Given the description of an element on the screen output the (x, y) to click on. 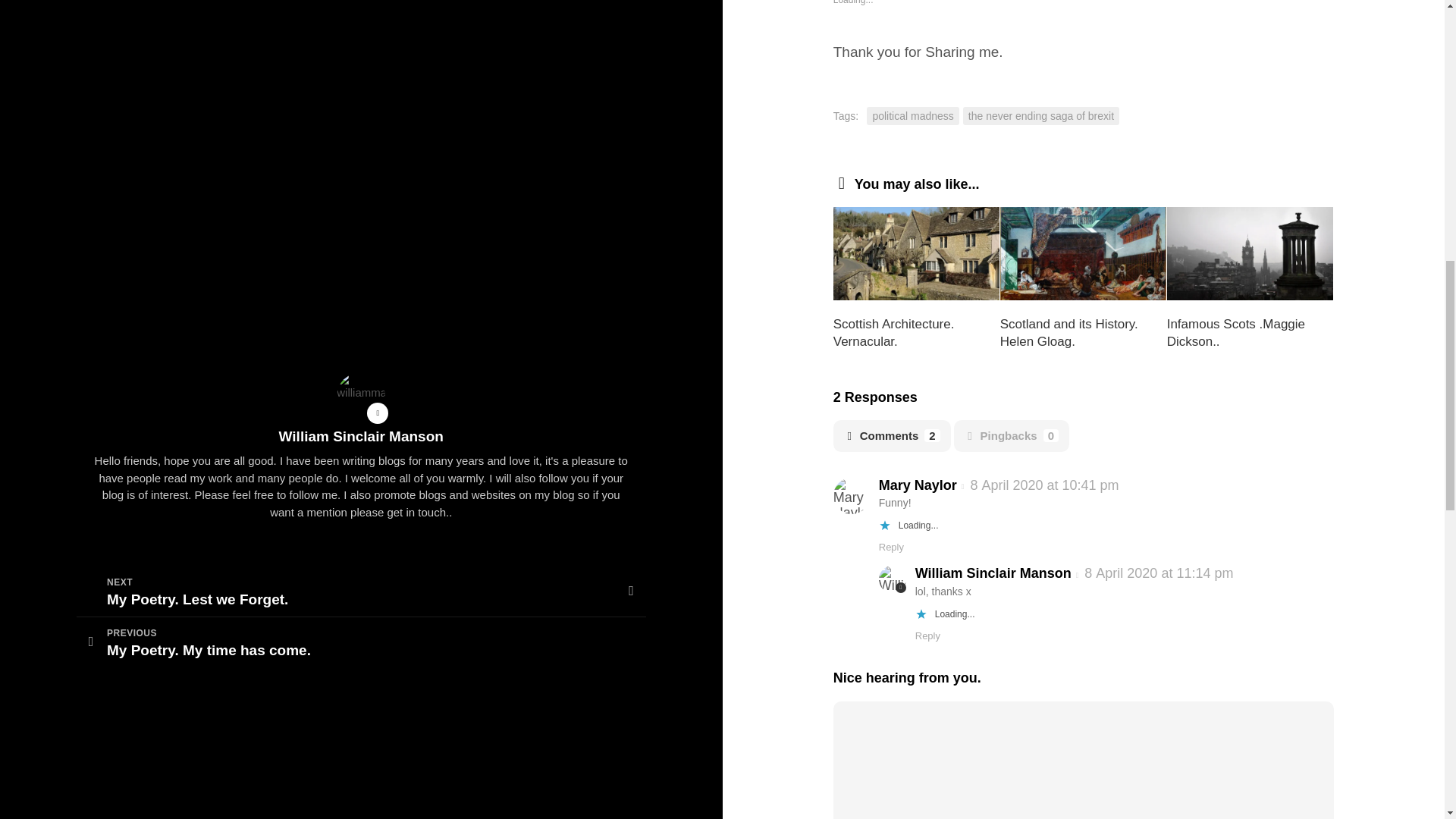
the never ending saga of brexit (1040, 116)
Mary Naylor (917, 485)
Scottish Architecture. Vernacular. (893, 332)
Comments2 (891, 436)
Infamous Scots .Maggie Dickson.. (1235, 332)
political madness (912, 116)
8 April 2020 at 11:14 pm (1158, 572)
William Sinclair Manson (993, 572)
Reply (891, 546)
Comment Form (1083, 764)
